Given the description of an element on the screen output the (x, y) to click on. 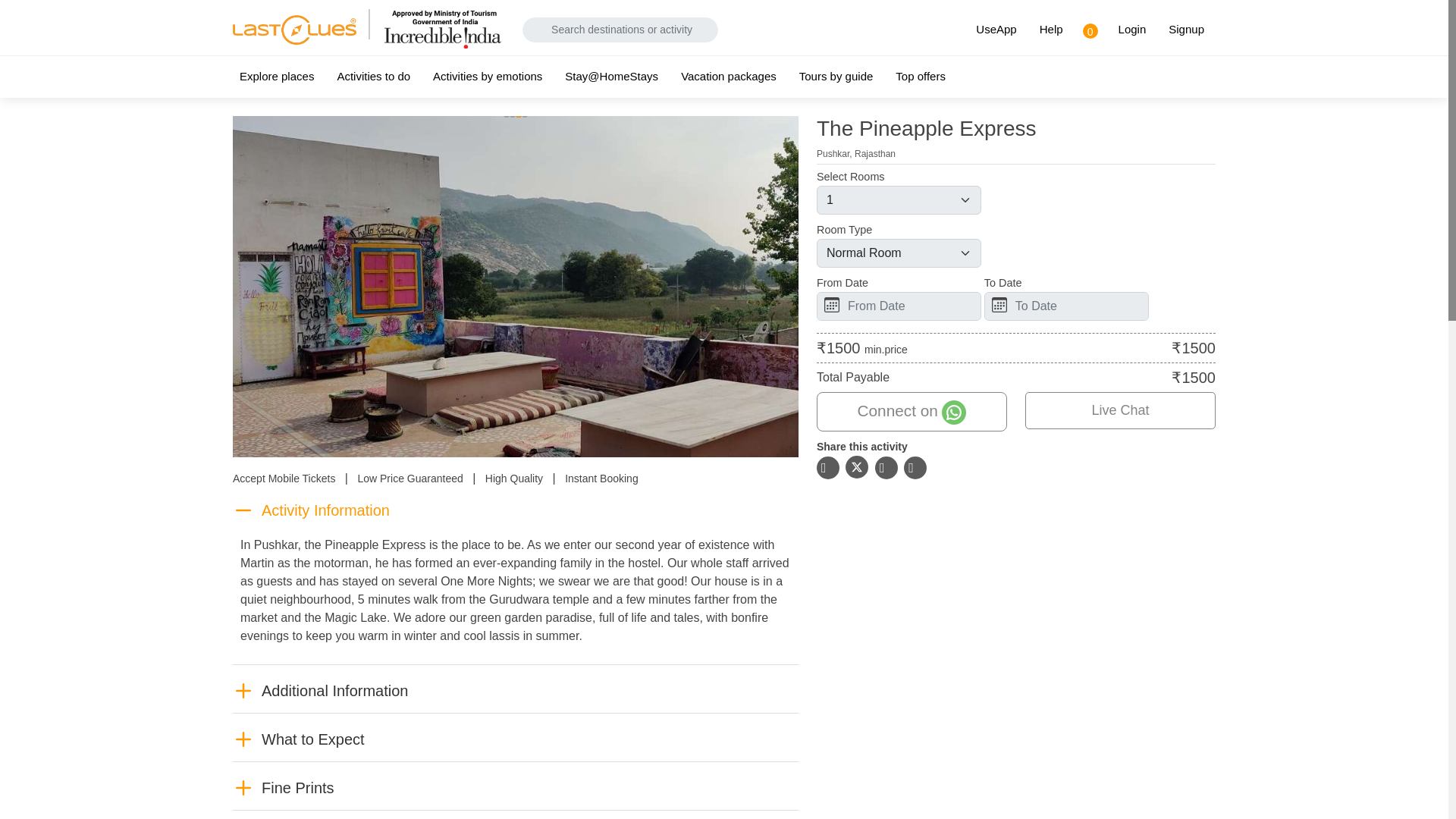
Help (1050, 29)
Signup (1186, 29)
Login (1131, 29)
UseApp (995, 29)
Explore places (284, 76)
0 (1087, 29)
